Given the description of an element on the screen output the (x, y) to click on. 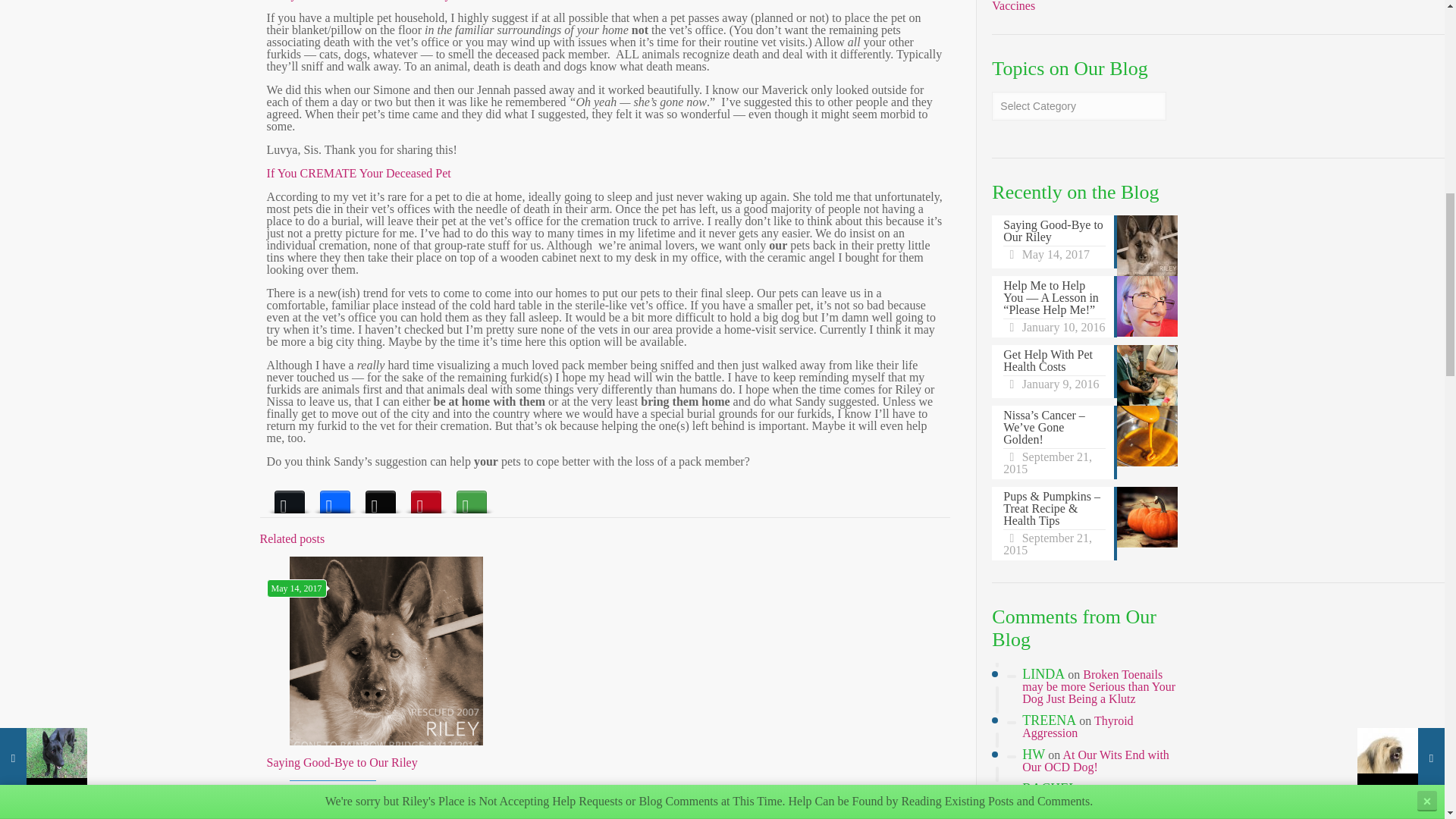
More Options (471, 497)
What you need to know about vaccines (1069, 6)
Pinterest (425, 497)
Facebook (335, 497)
Digg (380, 497)
